Given the description of an element on the screen output the (x, y) to click on. 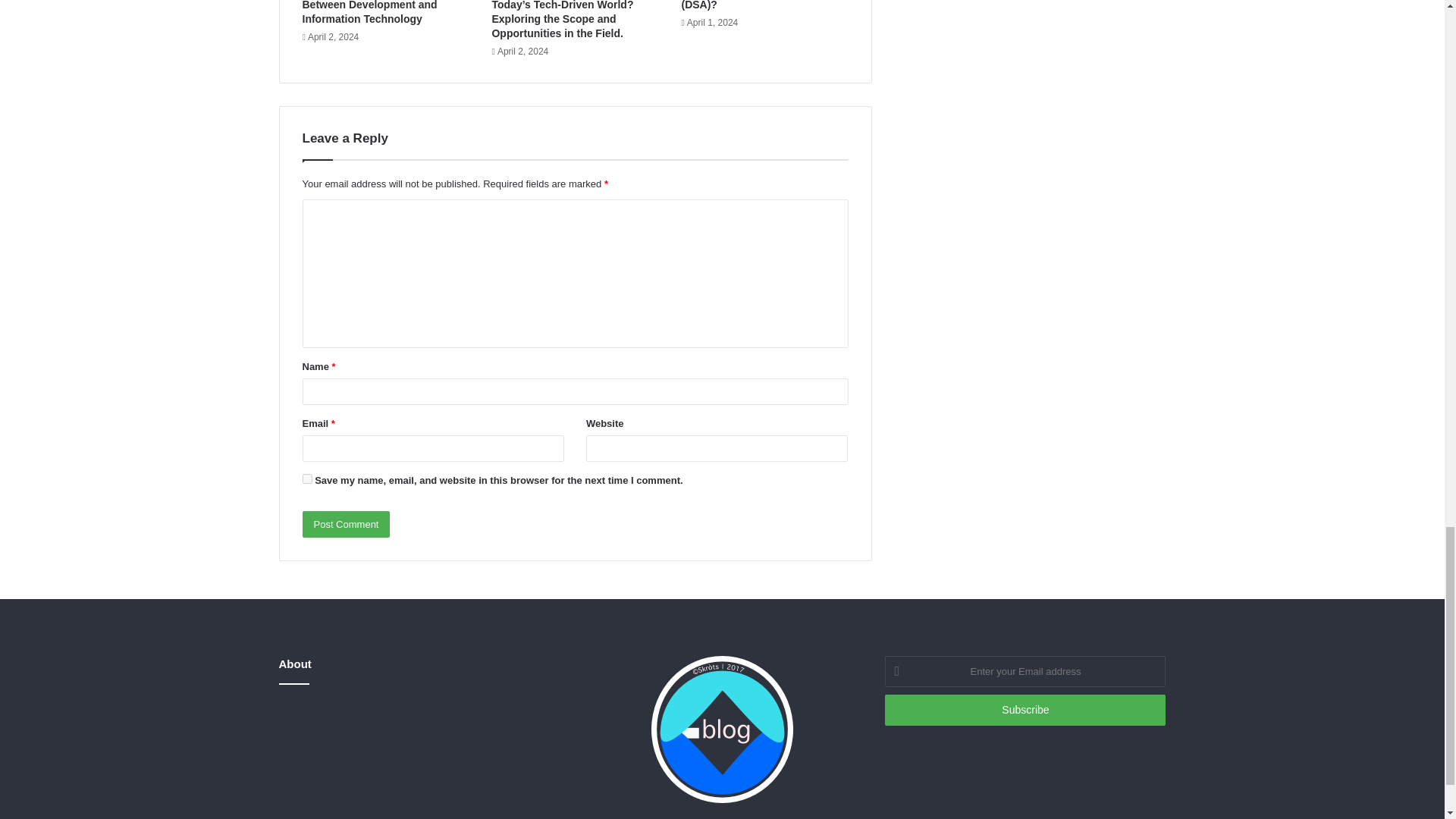
yes (306, 479)
Post Comment (345, 524)
Subscribe (1025, 709)
